Given the description of an element on the screen output the (x, y) to click on. 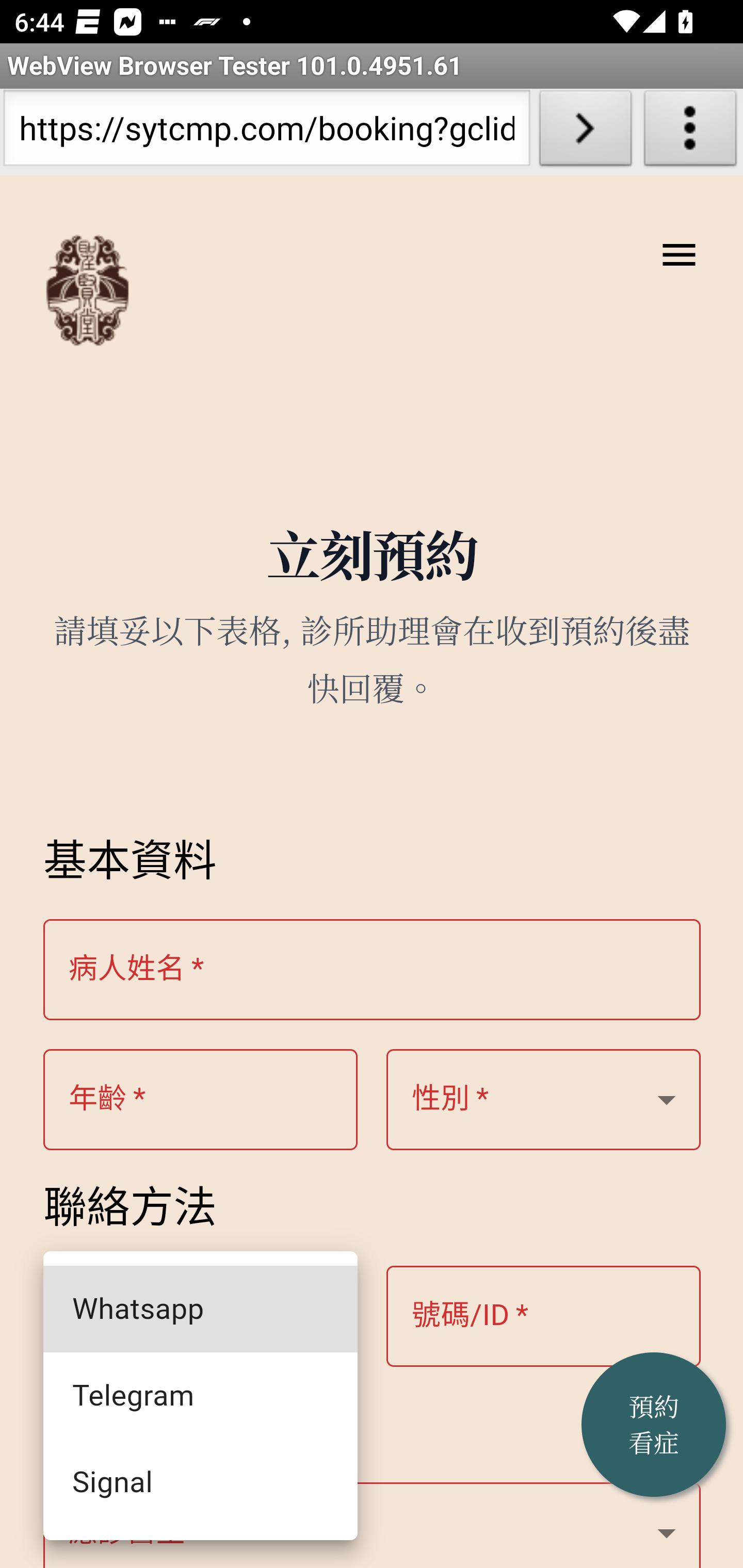
Load URL (585, 132)
About WebView (690, 132)
Whatsapp (200, 1308)
Telegram (200, 1395)
Signal (200, 1483)
